Given the description of an element on the screen output the (x, y) to click on. 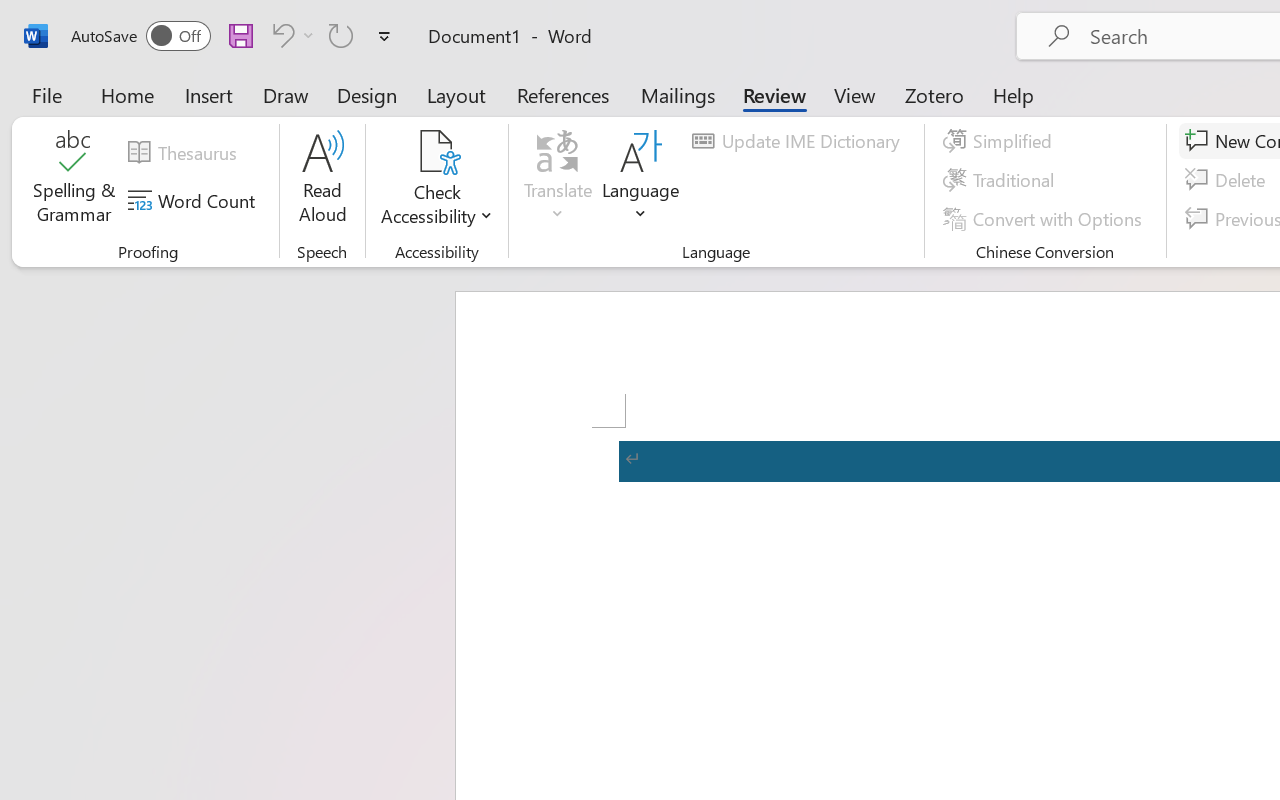
Word Count (194, 201)
Spelling & Grammar (74, 180)
Language (641, 179)
Check Accessibility (436, 151)
Repeat TCSCTranslate (341, 35)
Convert with Options... (1045, 218)
Check Accessibility (436, 179)
Update IME Dictionary... (799, 141)
